Given the description of an element on the screen output the (x, y) to click on. 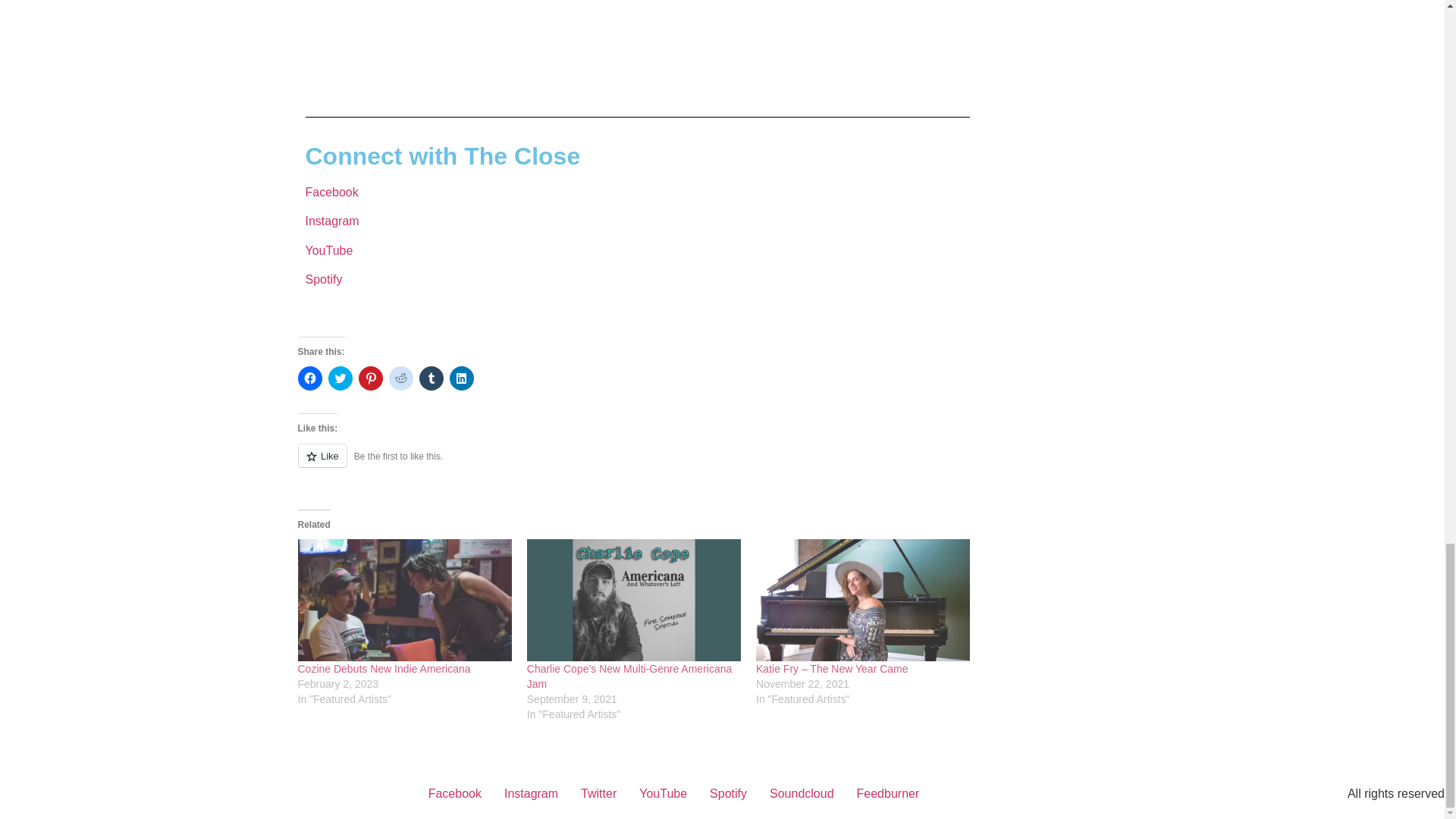
Facebook (331, 192)
Cozine Debuts New Indie Americana (383, 668)
Spotify (323, 278)
Like or Reblog (636, 464)
Click to share on Reddit (400, 378)
YouTube (328, 250)
Click to share on LinkedIn (460, 378)
Instagram (331, 220)
Click to share on Tumblr (430, 378)
Click to share on Pinterest (369, 378)
